Given the description of an element on the screen output the (x, y) to click on. 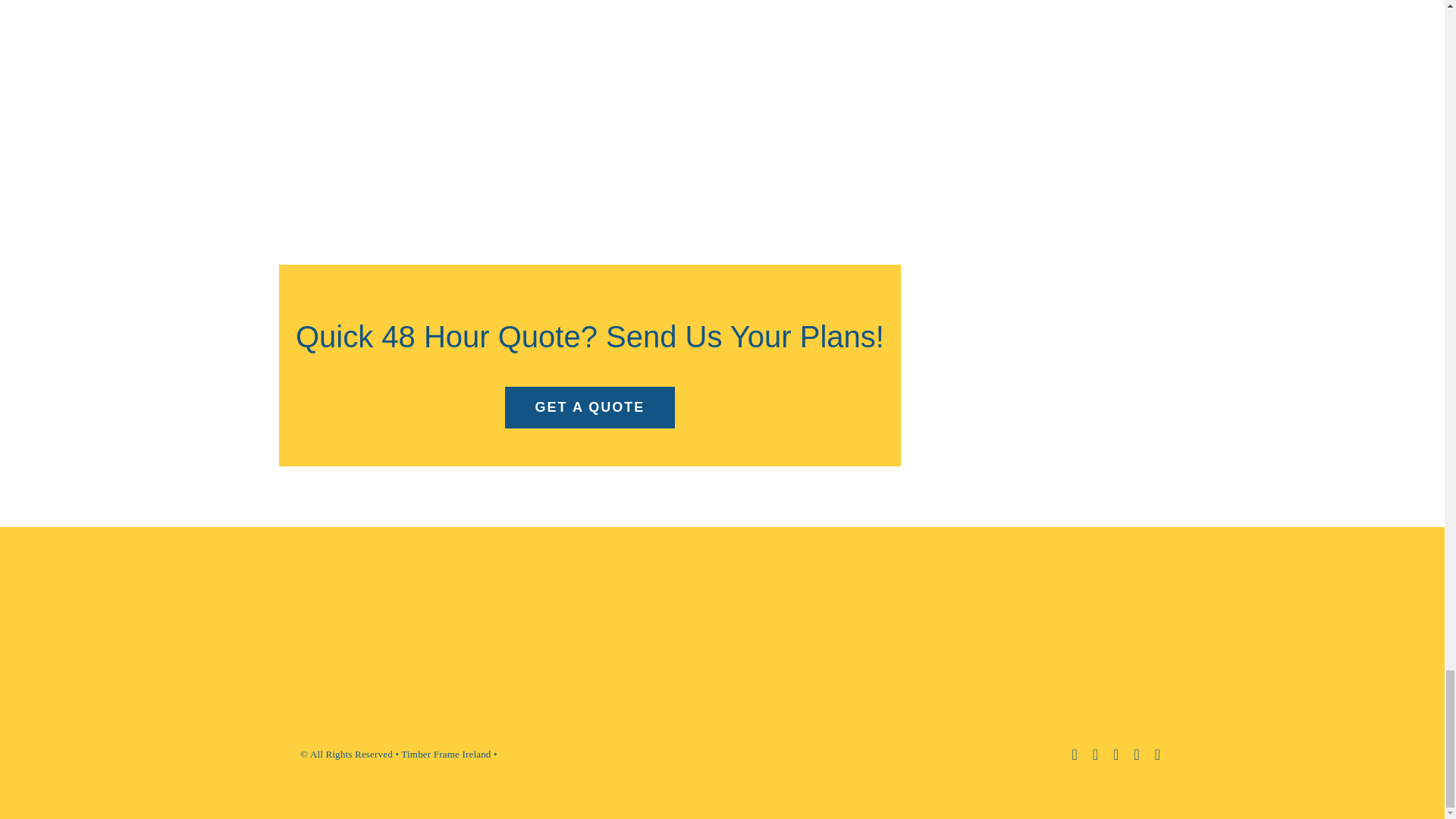
Facebook (1074, 754)
get a free quote (590, 407)
Twitter (1115, 754)
LinkedIn (590, 365)
YouTube (1157, 754)
Instagram (1136, 754)
GET A QUOTE (1095, 754)
